Given the description of an element on the screen output the (x, y) to click on. 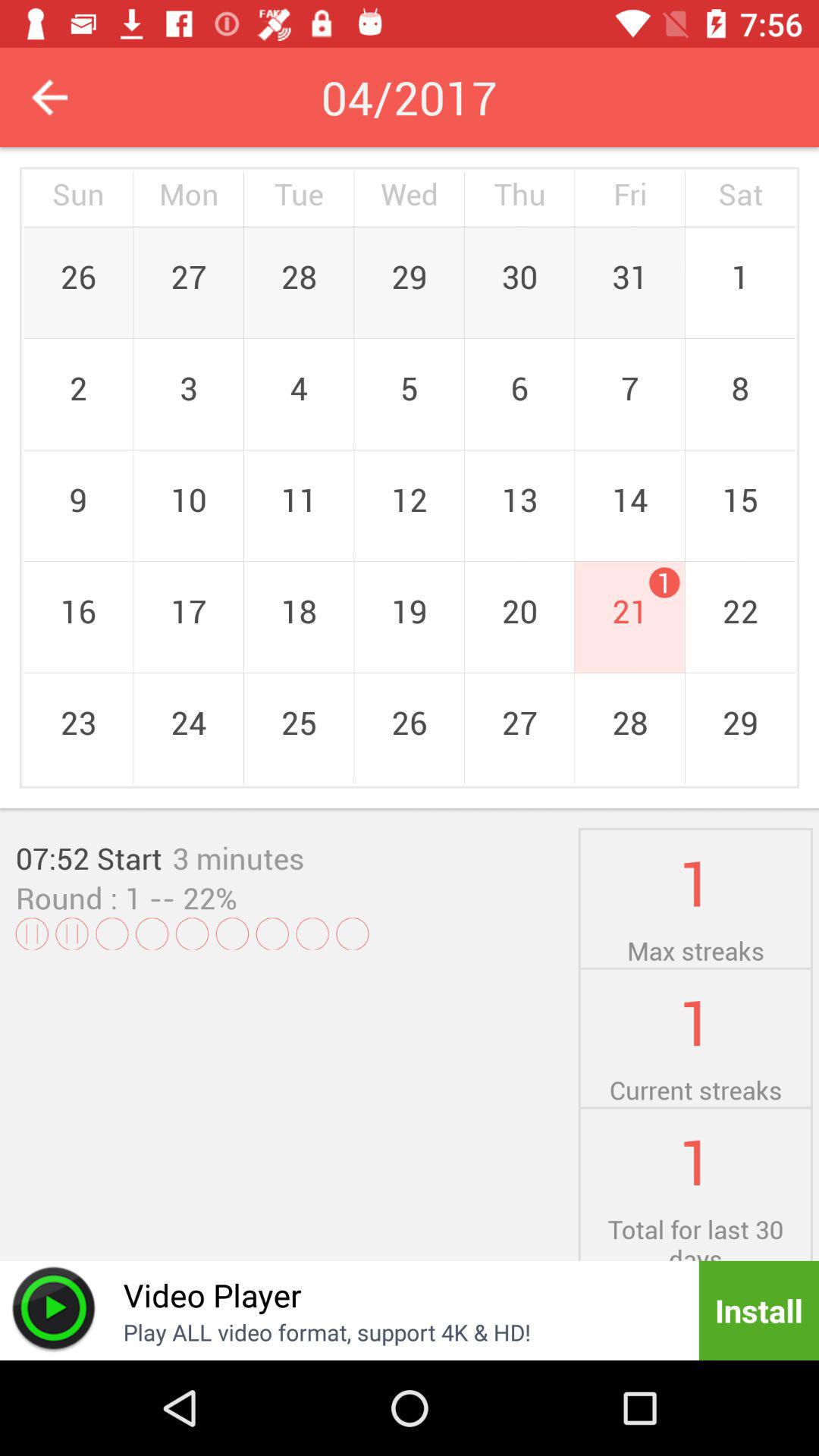
select the icon next to the 07:52 start (238, 858)
